Given the description of an element on the screen output the (x, y) to click on. 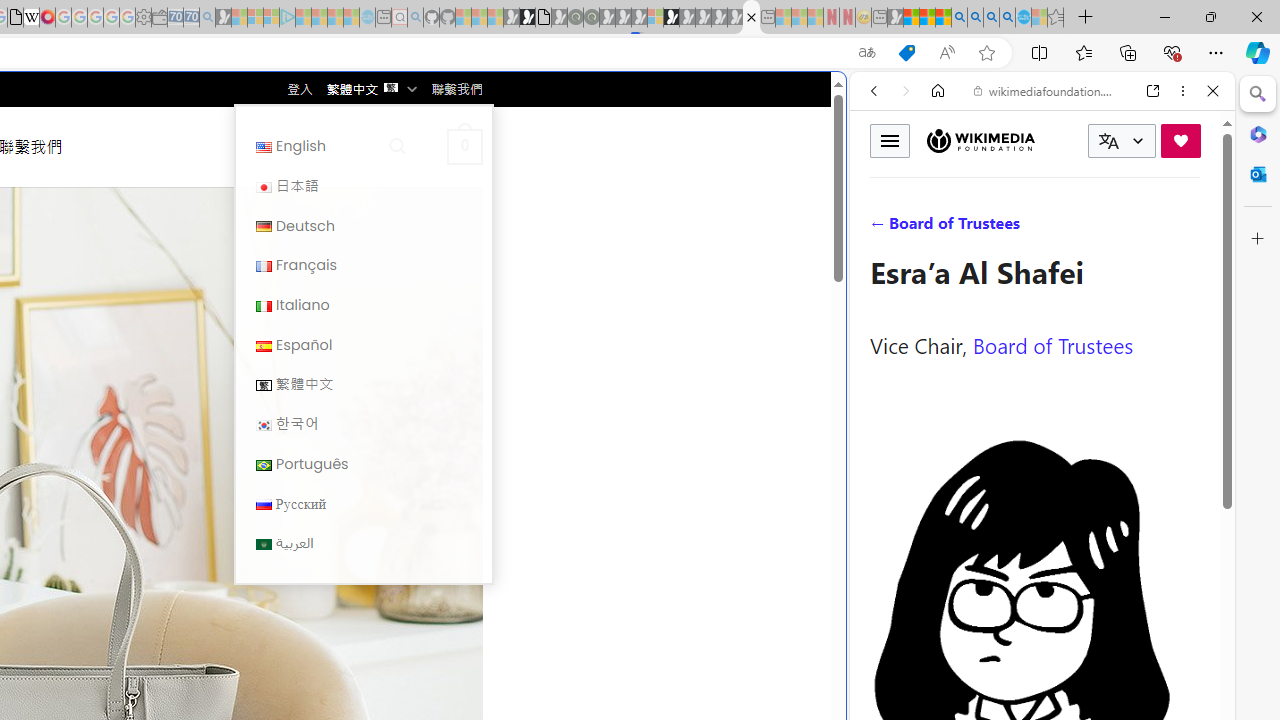
 English (363, 145)
Italiano Italiano (363, 303)
Wiktionary (1034, 669)
Frequently visited (418, 265)
Board of Trustees (1053, 344)
